Given the description of an element on the screen output the (x, y) to click on. 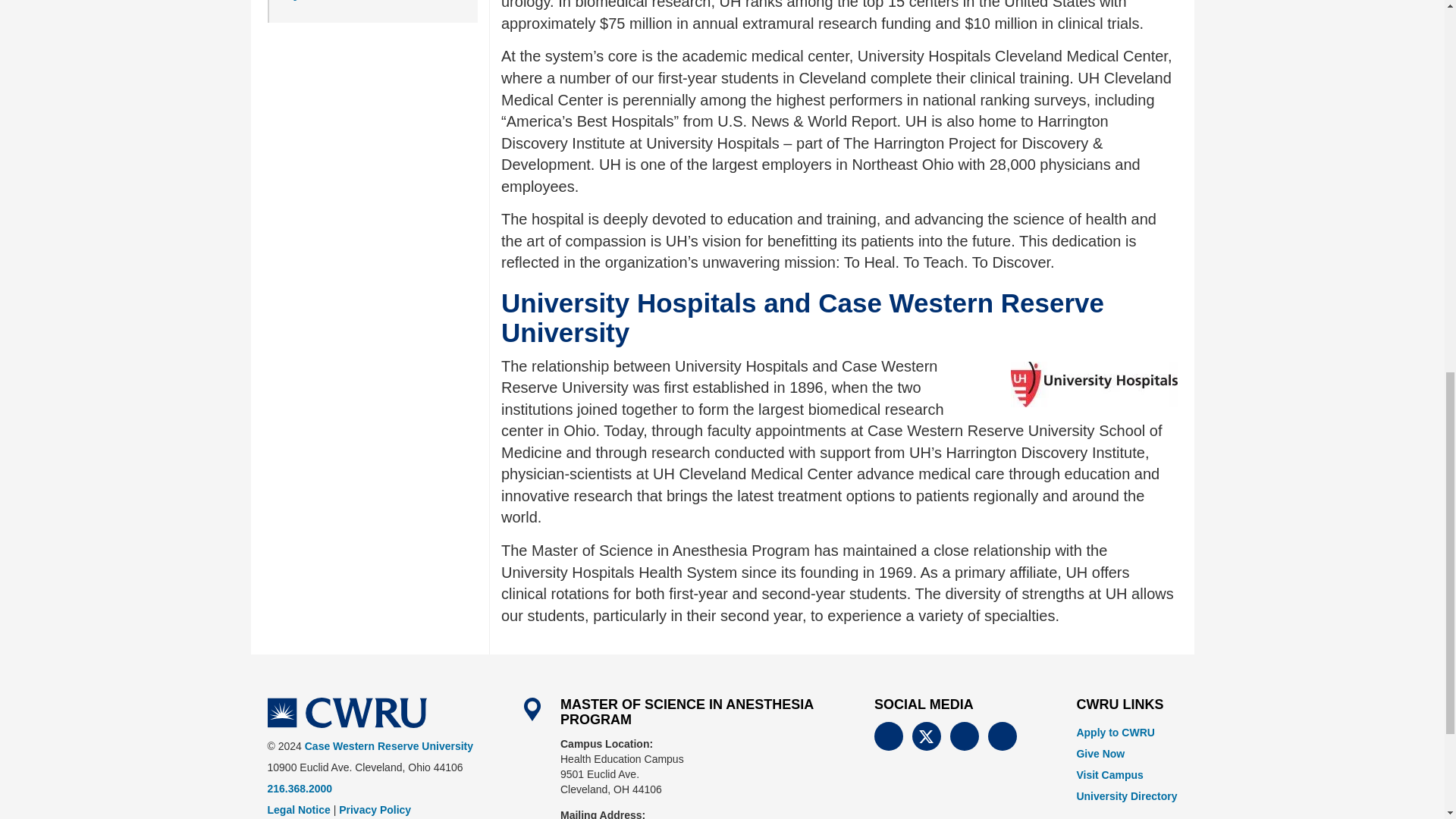
CWRU Twitter (926, 736)
CWRU Facebook (888, 736)
CWRU Linkedin (1002, 736)
CWRU Instagram (964, 736)
Case Western Reserve University (346, 712)
